Given the description of an element on the screen output the (x, y) to click on. 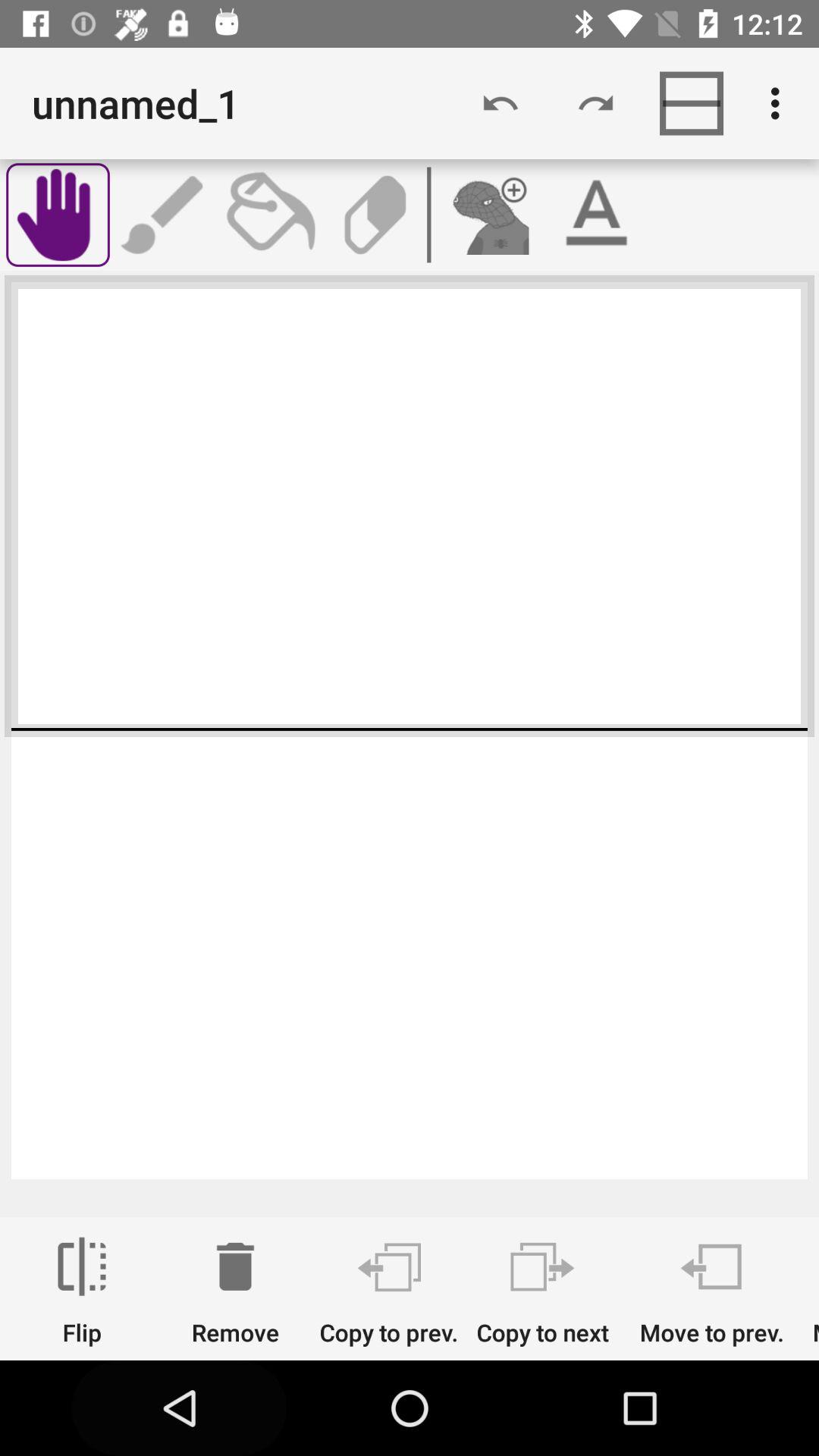
go to paint (269, 214)
